Given the description of an element on the screen output the (x, y) to click on. 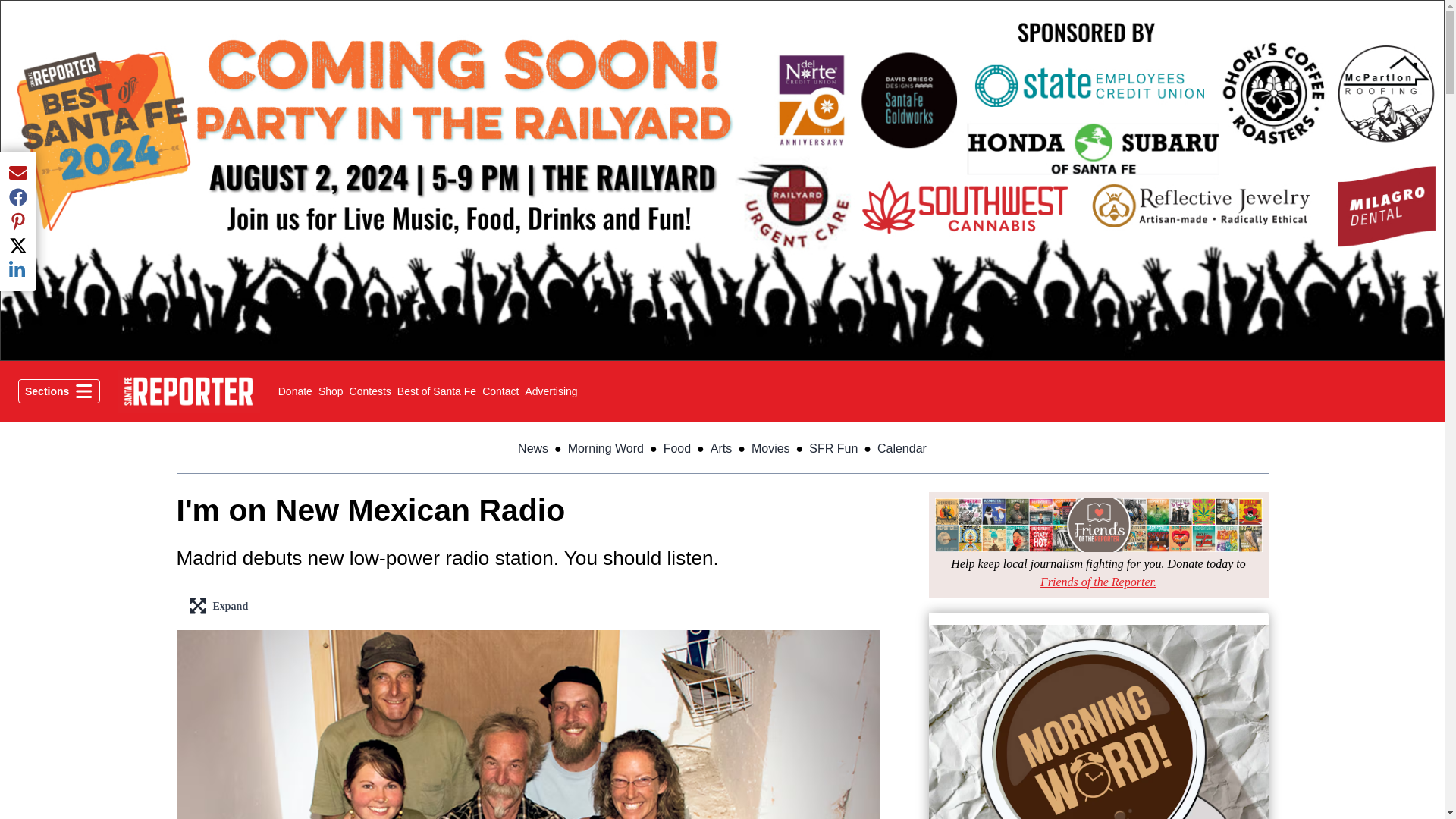
Sections (330, 391)
Become a Friend of the Reporter (58, 391)
Contact (1098, 581)
Santa Fe Reporter (499, 391)
Best of Santa Fe (188, 391)
Donate (436, 391)
Contests (295, 391)
Advertising (370, 391)
Become a Friend of the Reporter (550, 391)
